Given the description of an element on the screen output the (x, y) to click on. 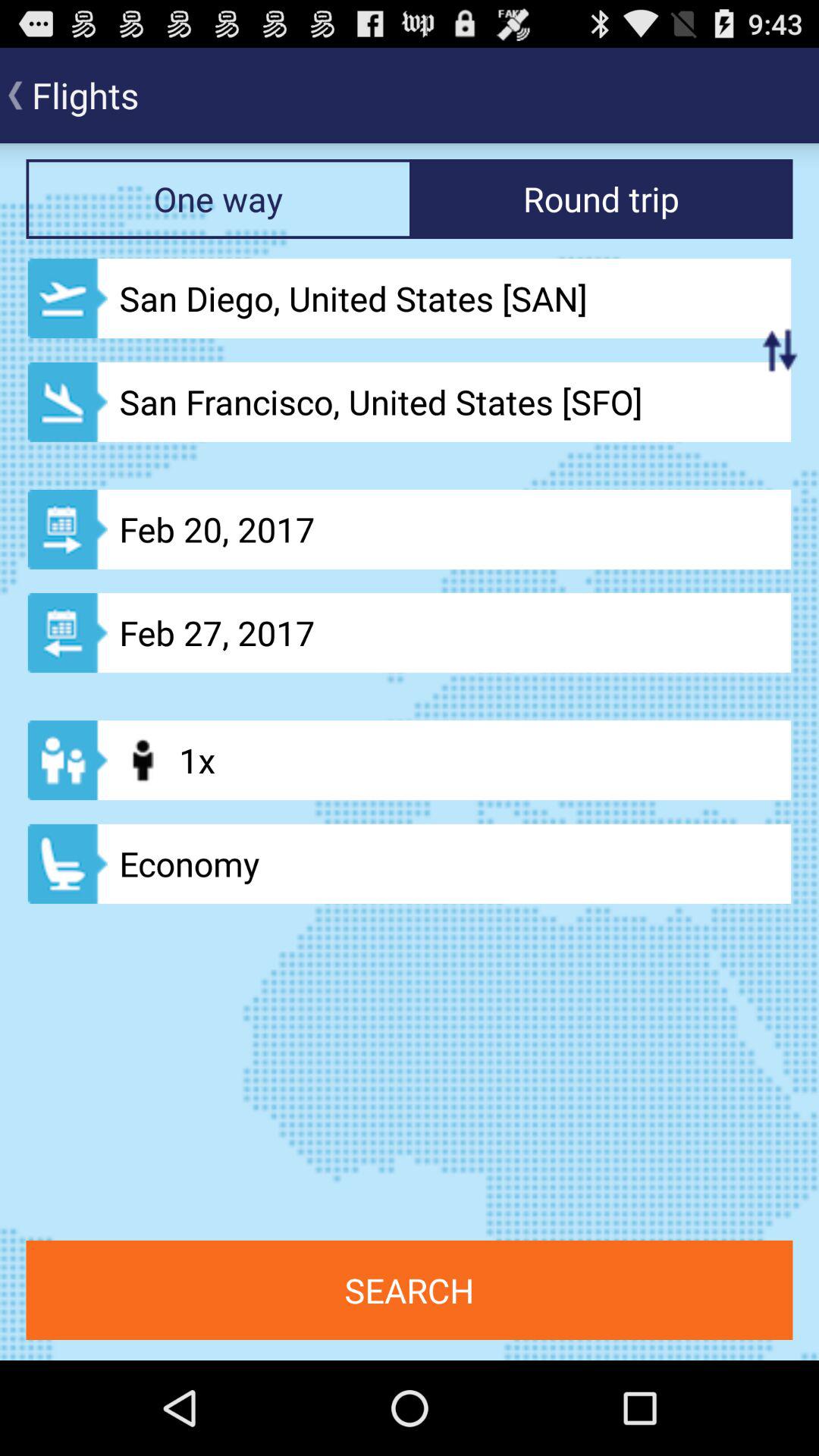
swap (780, 350)
